Given the description of an element on the screen output the (x, y) to click on. 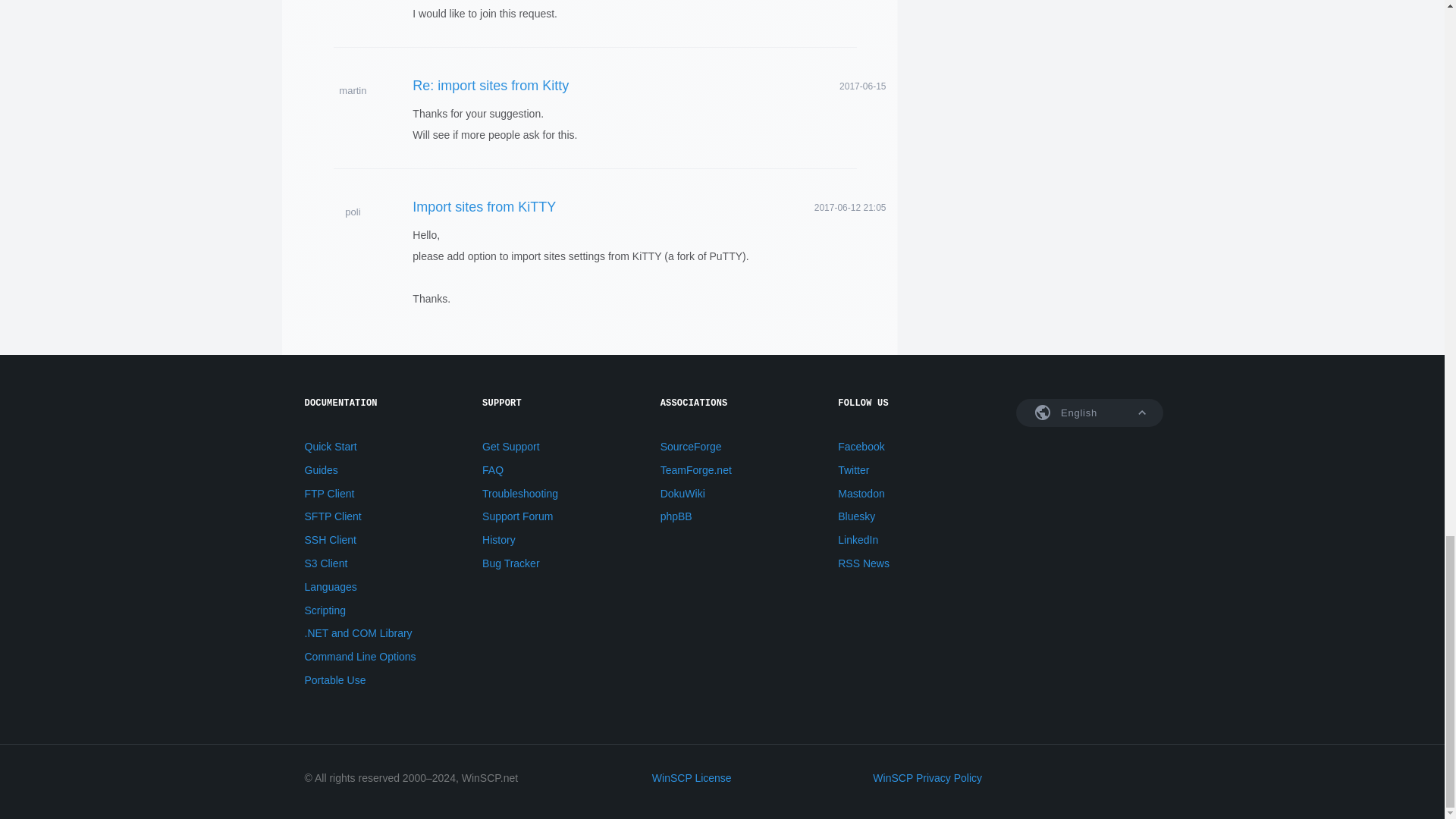
English (1089, 412)
